Given the description of an element on the screen output the (x, y) to click on. 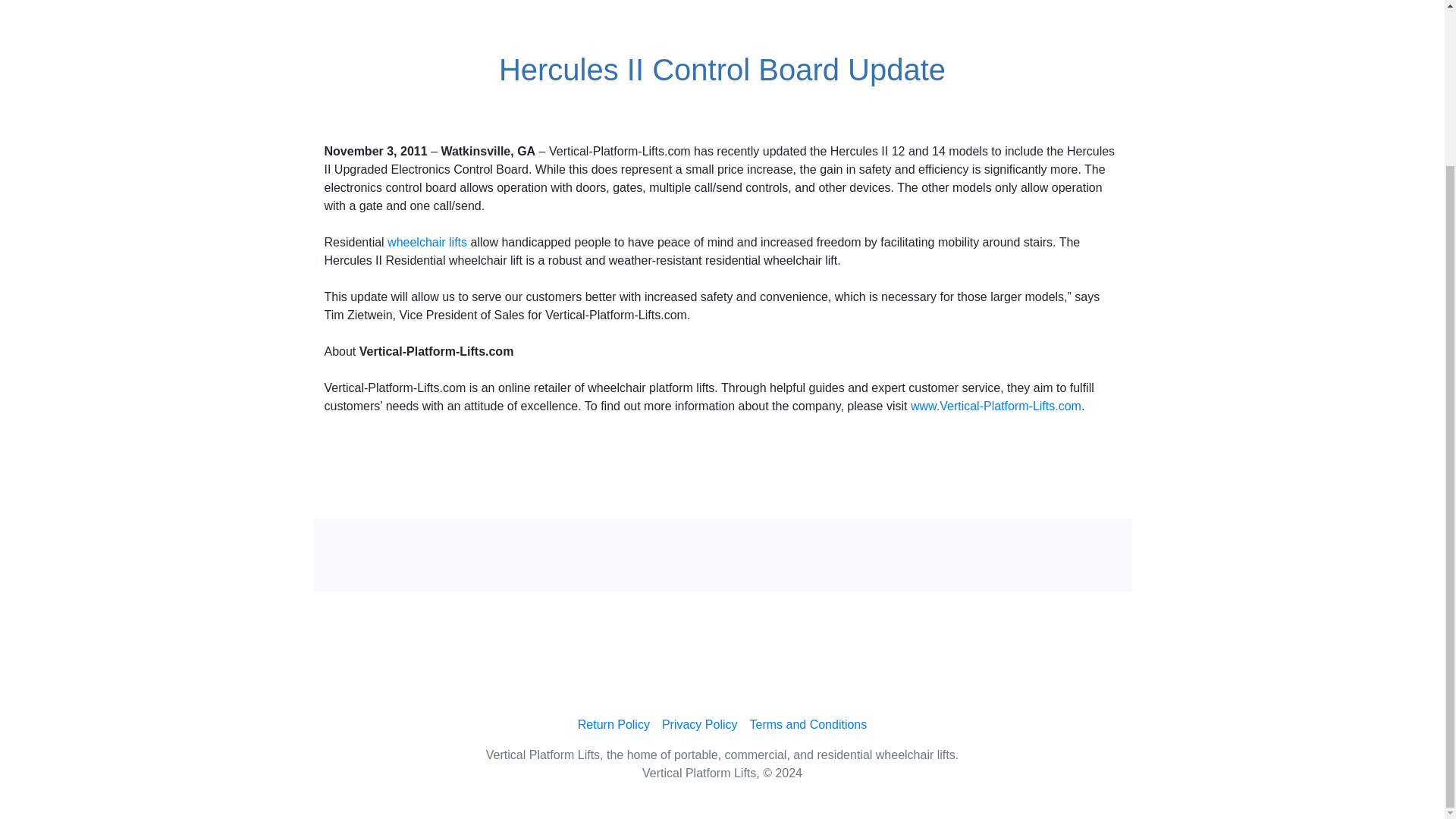
Return Policy (614, 725)
Terms and Conditions (807, 725)
www.Vertical-Platform-Lifts.com (996, 405)
wheelchair lifts (427, 241)
Privacy Policy (700, 725)
